Given the description of an element on the screen output the (x, y) to click on. 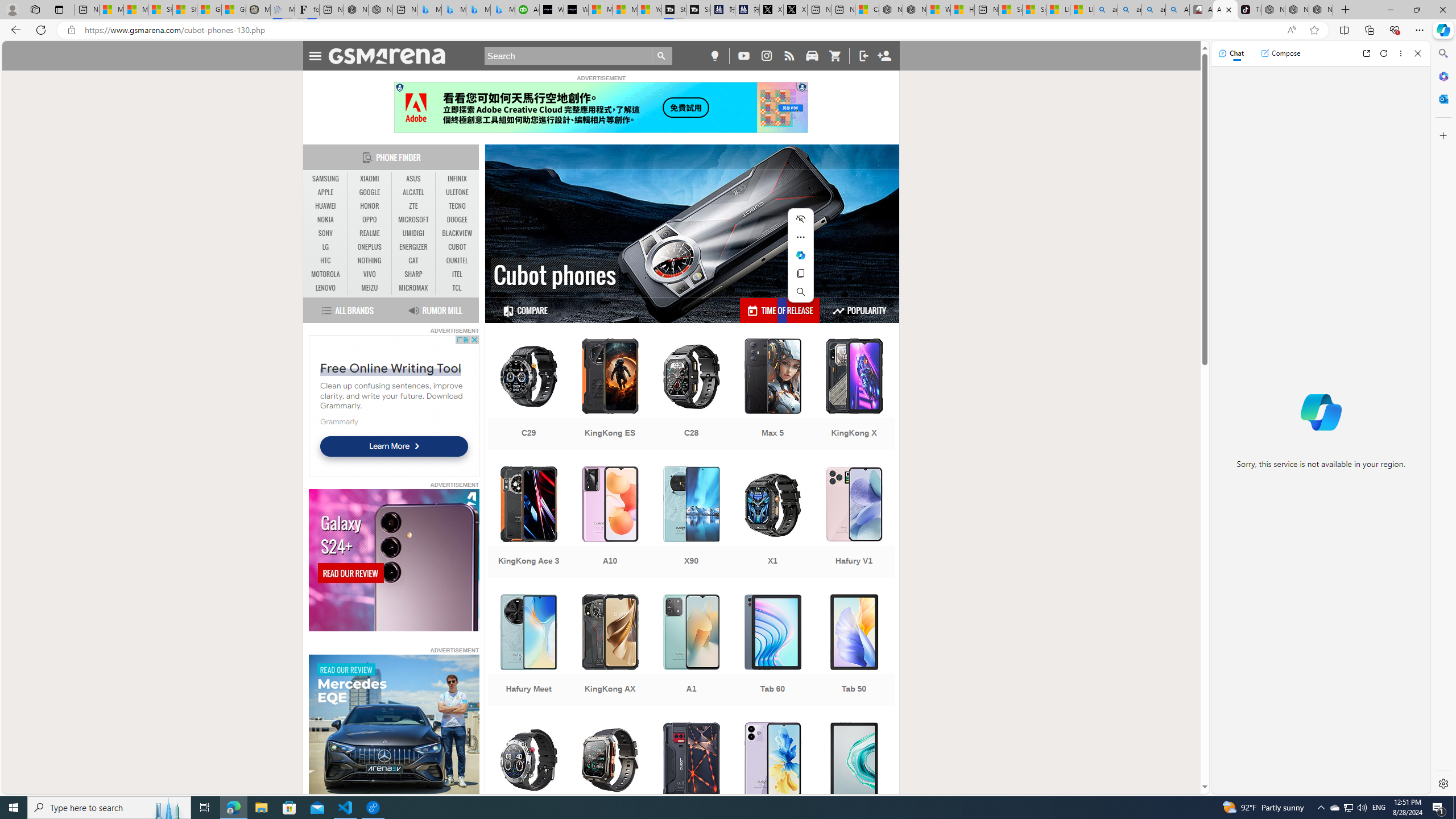
GOOGLE (369, 192)
REALME (369, 233)
MICROMAX (413, 287)
XIAOMI (369, 178)
